Given the description of an element on the screen output the (x, y) to click on. 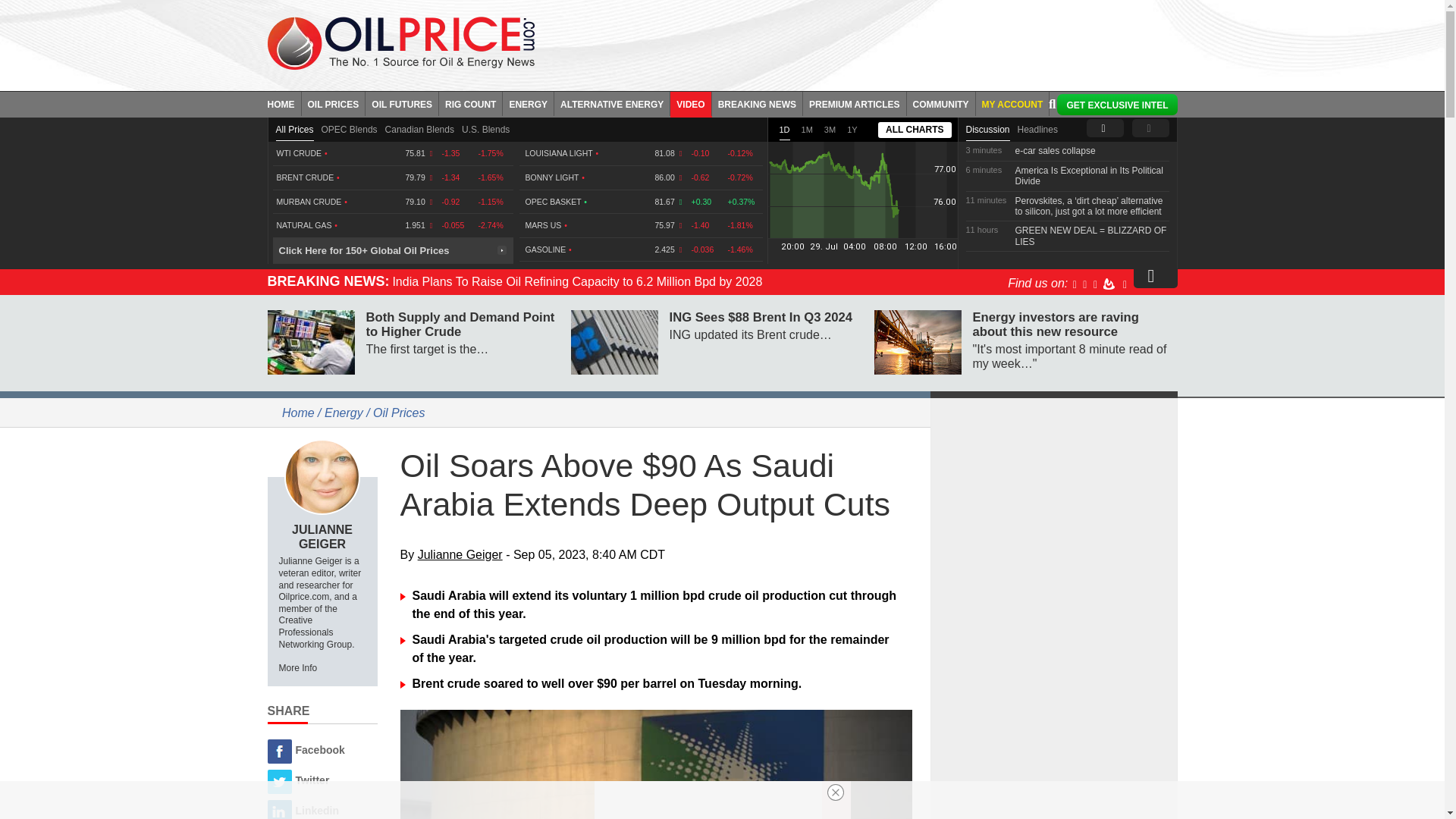
3rd party ad content (1053, 502)
MY ACCOUNT (1012, 103)
3rd party ad content (866, 41)
Both Supply and Demand Point to Higher Crude (309, 342)
ALTERNATIVE ENERGY (611, 103)
Julianne Geiger (321, 476)
Oil prices - Oilprice.com (400, 42)
3rd party ad content (1053, 710)
HOME (283, 103)
PREMIUM ARTICLES (855, 103)
RIG COUNT (470, 103)
VIDEO (690, 103)
Aramco (656, 764)
OIL FUTURES (402, 103)
BREAKING NEWS (757, 103)
